Given the description of an element on the screen output the (x, y) to click on. 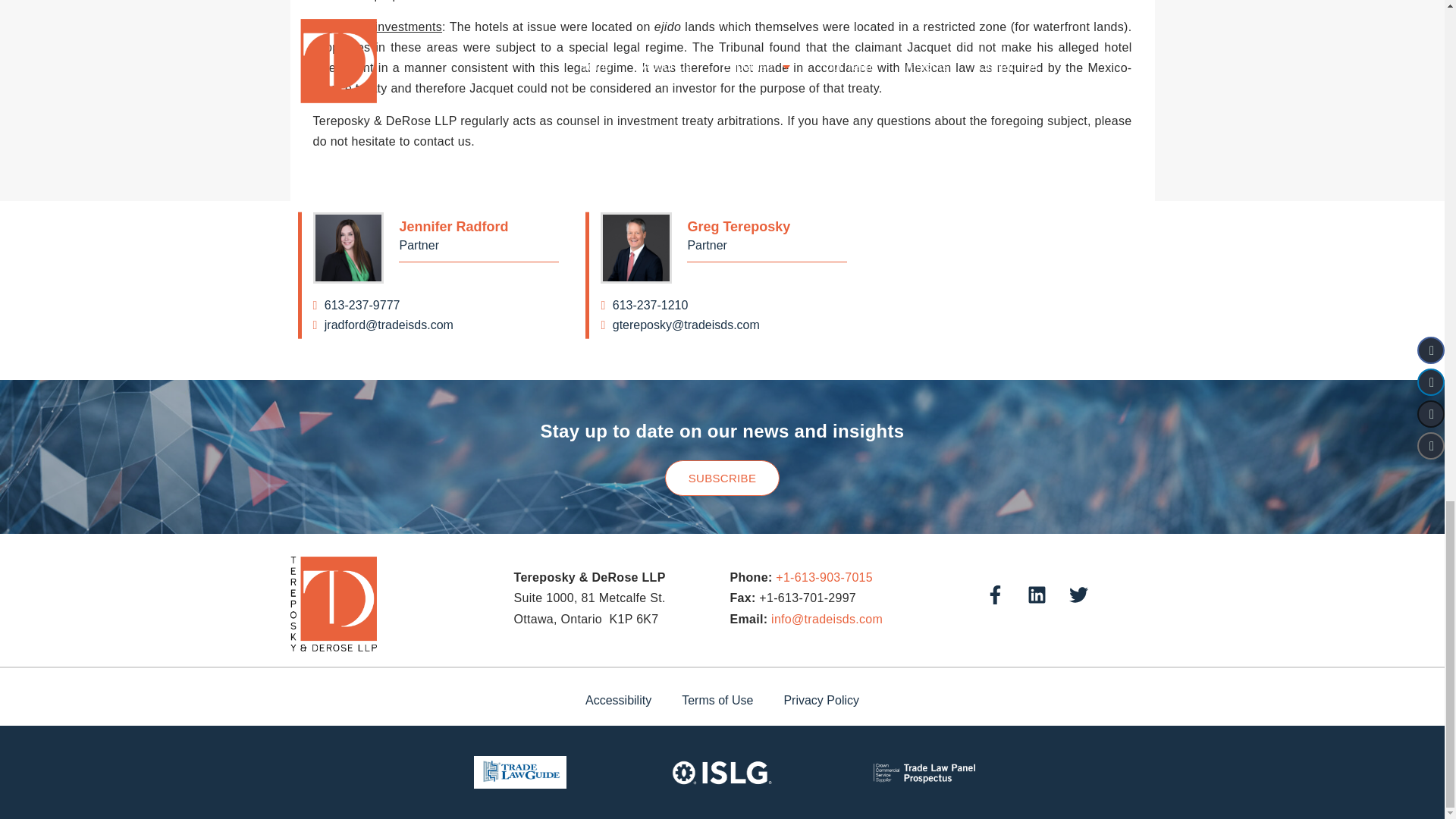
Greg Tereposky (723, 305)
Greg Tereposky (635, 247)
Jennifer Radford (436, 305)
Greg Tereposky (723, 325)
Jennifer Radford (348, 247)
Jennifer Radford (478, 227)
Greg Tereposky (767, 227)
Jennifer Radford (436, 325)
